Given the description of an element on the screen output the (x, y) to click on. 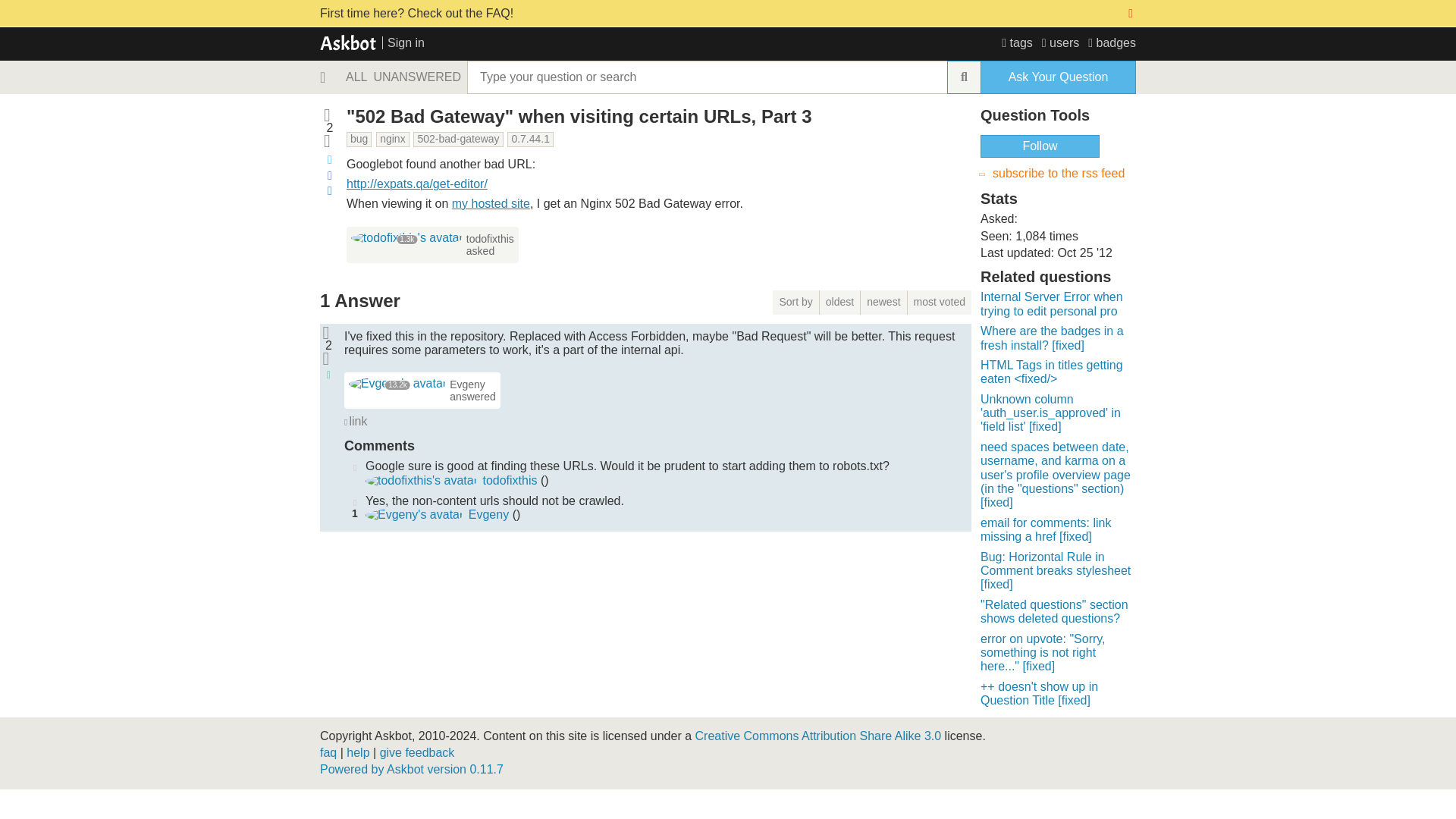
nginx (392, 139)
bug (358, 139)
Sign in (403, 42)
upvote comment (354, 465)
Evgeny (488, 513)
oldest (839, 302)
13.2k (397, 382)
newest (883, 302)
most voted (939, 302)
todofixthis (406, 237)
